Given the description of an element on the screen output the (x, y) to click on. 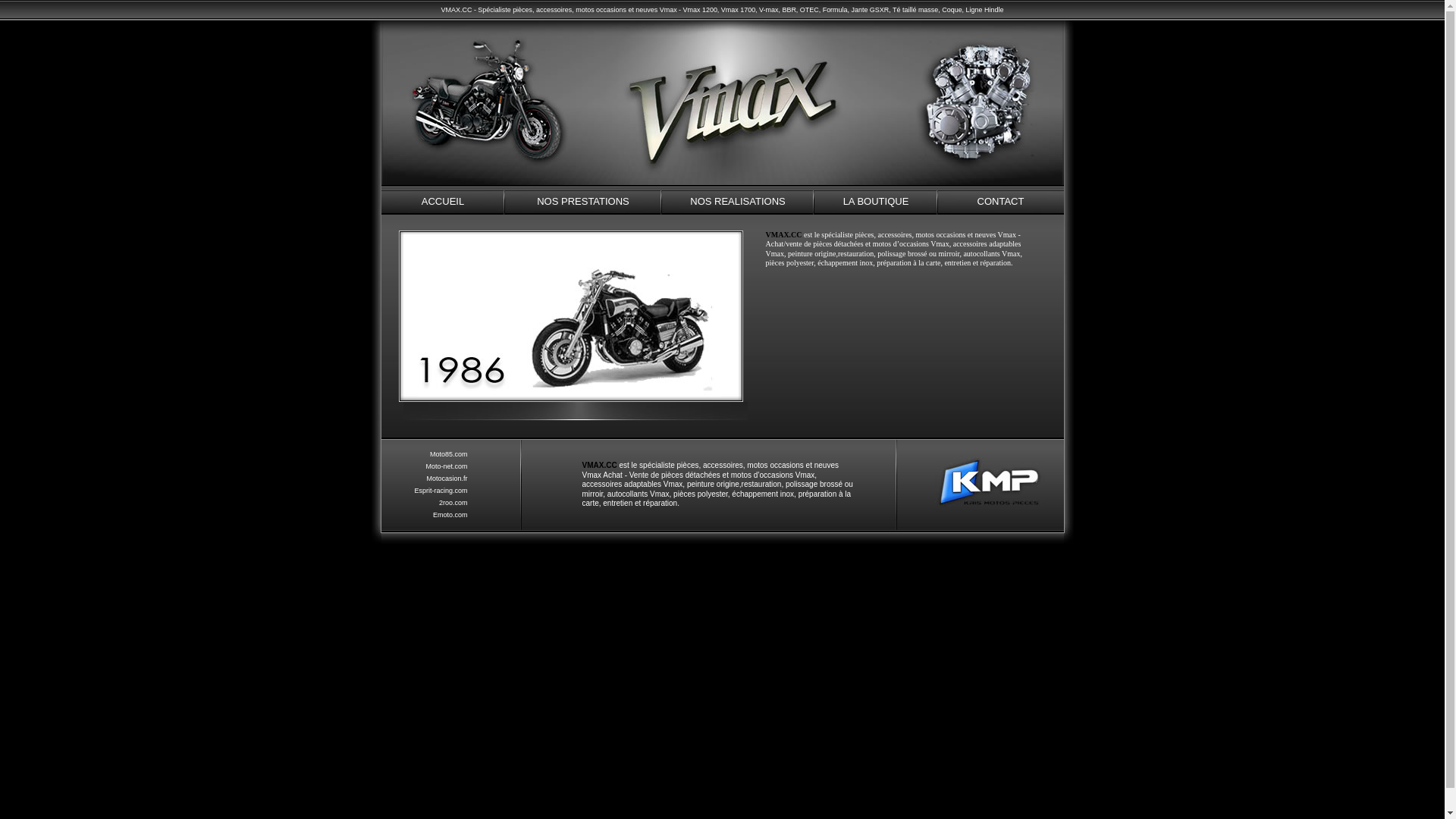
NOS REALISATIONS Element type: text (737, 202)
ACCUEIL Element type: text (442, 202)
CONTACT Element type: text (1000, 202)
Moto-net.com Element type: text (446, 466)
Esprit-racing.com Element type: text (440, 490)
LA BOUTIQUE Element type: text (876, 202)
NOS PRESTATIONS Element type: text (583, 202)
Motocasion.fr Element type: text (446, 478)
Moto85.com Element type: text (448, 454)
Emoto.com Element type: text (450, 514)
2roo.com Element type: text (453, 502)
